Given the description of an element on the screen output the (x, y) to click on. 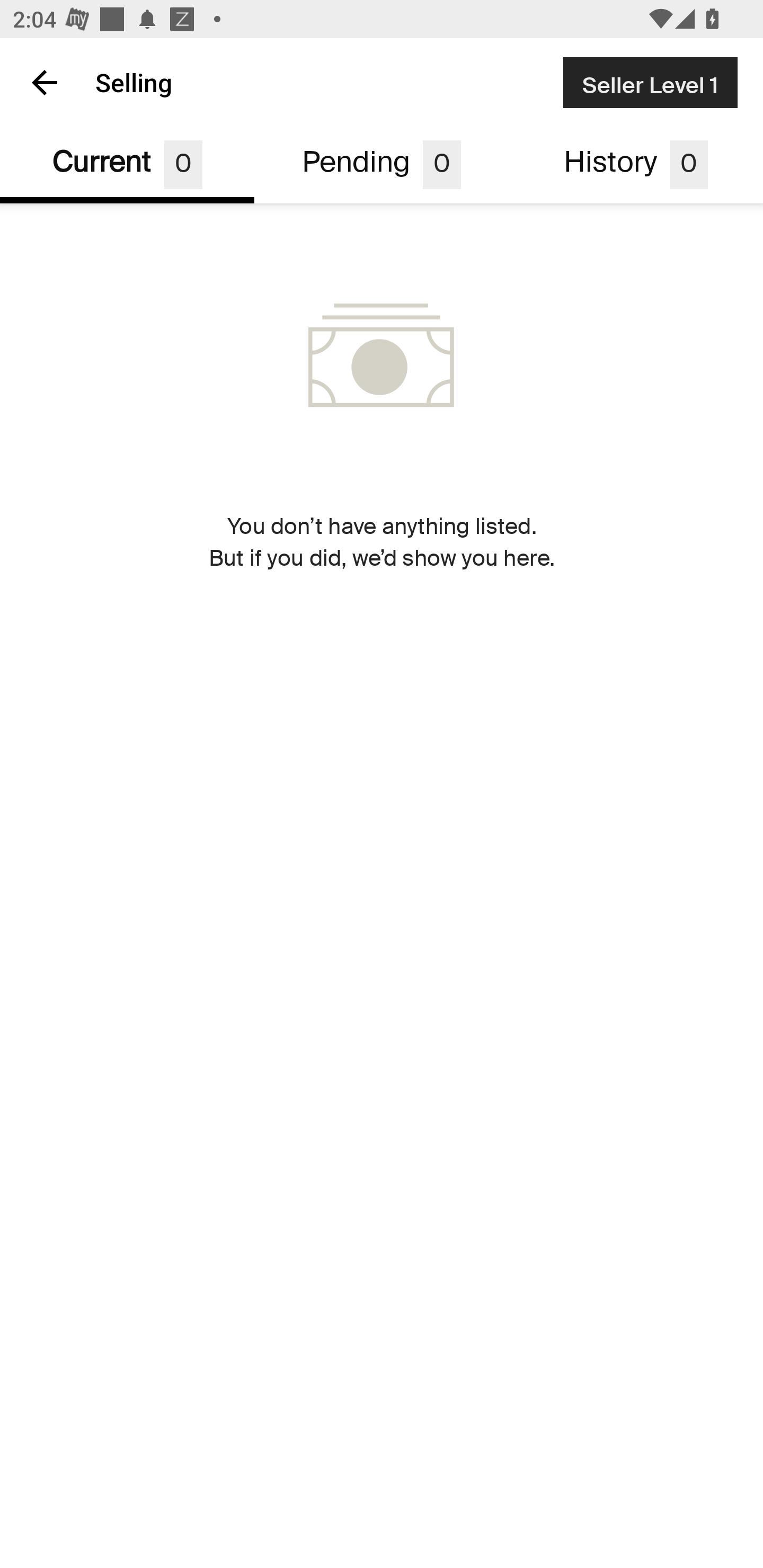
Navigate up (44, 82)
Seller Level 1 (650, 82)
Pending 0 (381, 165)
History 0 (635, 165)
